Given the description of an element on the screen output the (x, y) to click on. 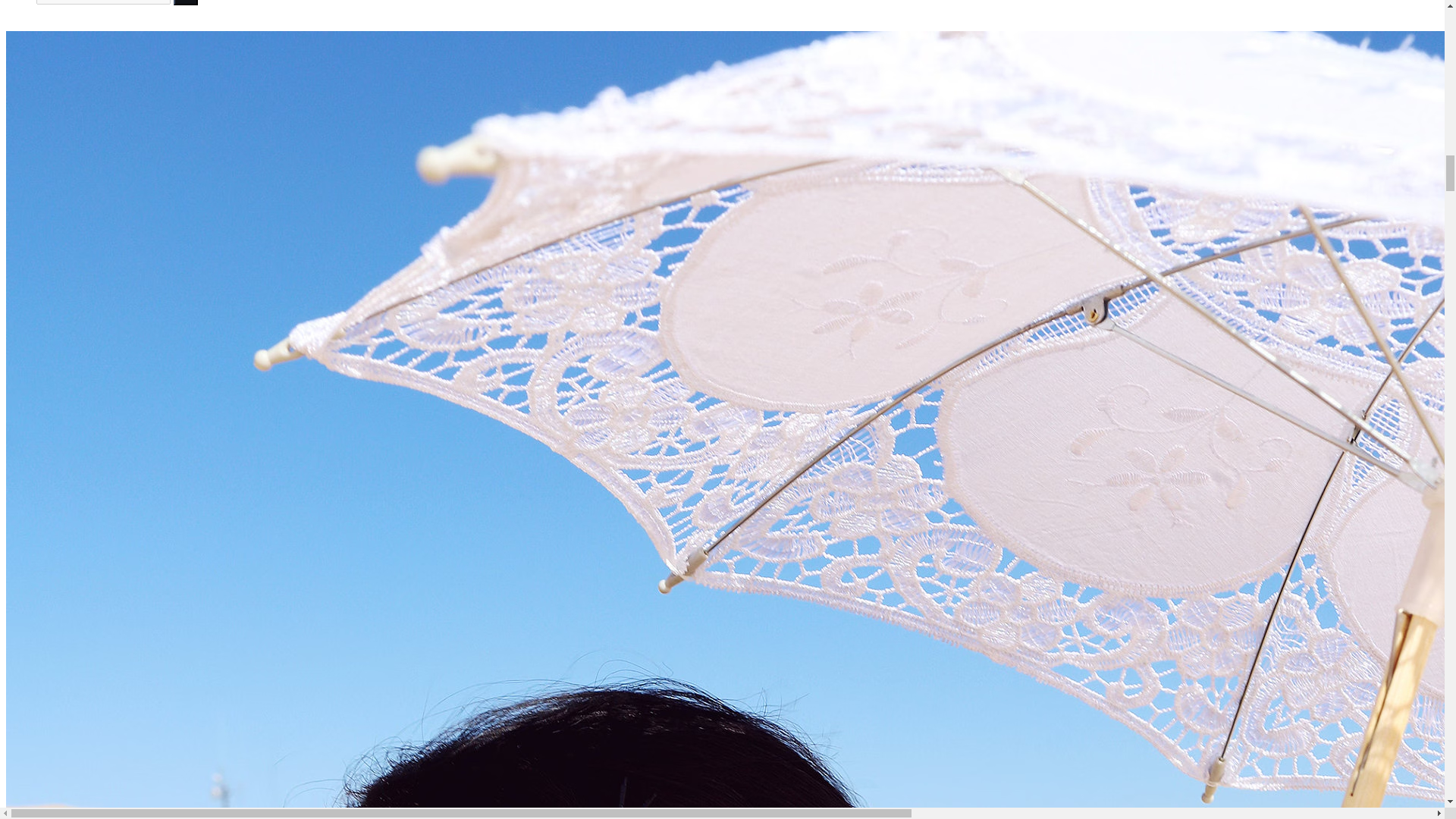
Go (185, 2)
Go (185, 2)
